Given the description of an element on the screen output the (x, y) to click on. 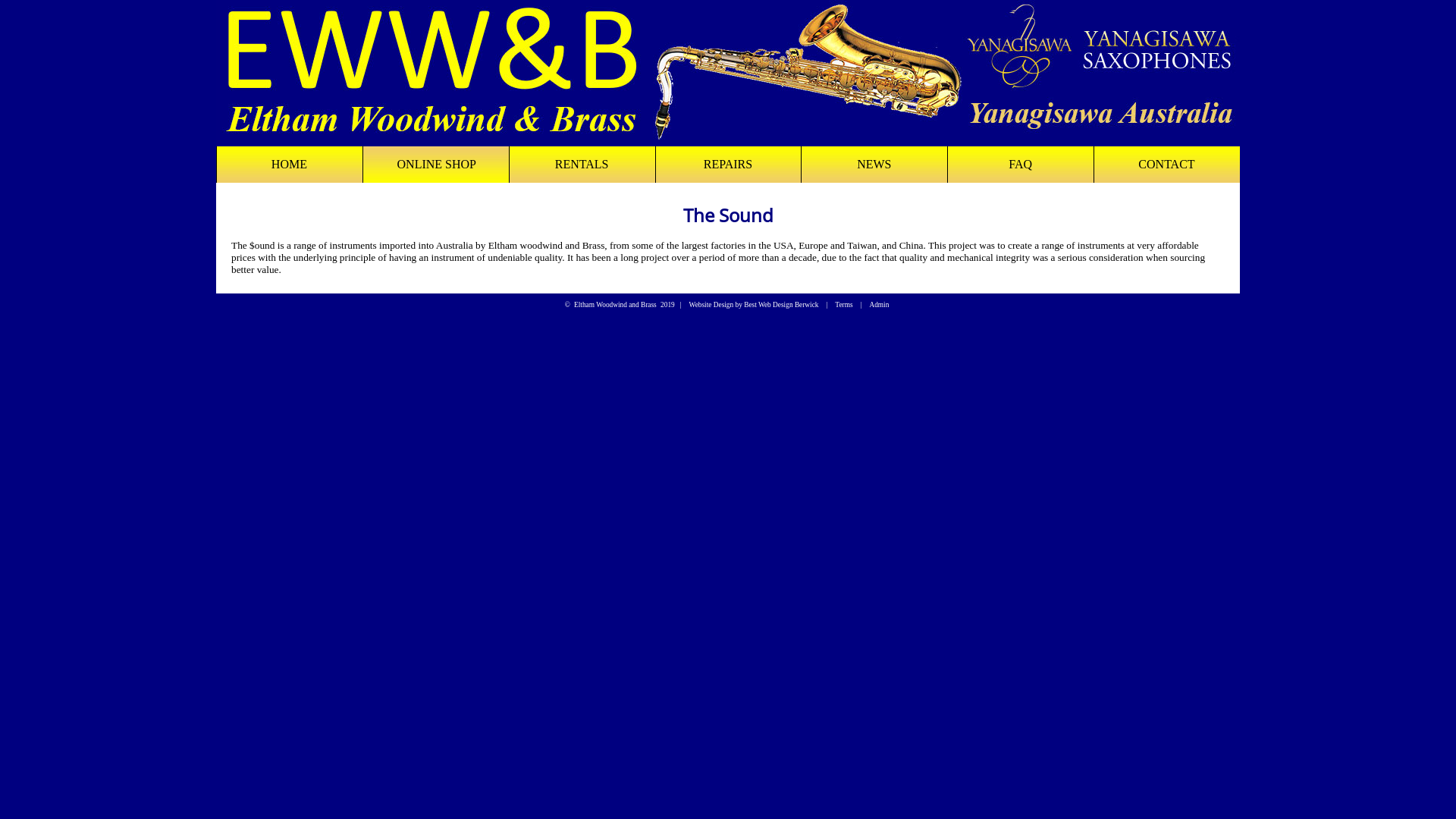
NEWS Element type: text (873, 164)
CONTACT Element type: text (1166, 164)
RENTALS Element type: text (581, 164)
ONLINE SHOP
  Element type: text (435, 164)
HOME Element type: text (289, 164)
Admin Element type: text (878, 304)
FAQ Element type: text (1020, 164)
Website Design by Best Web Design Berwick Element type: text (754, 304)
Terms Element type: text (843, 304)
REPAIRS Element type: text (728, 164)
Eltham Woodwind and Brass Element type: text (614, 304)
